Given the description of an element on the screen output the (x, y) to click on. 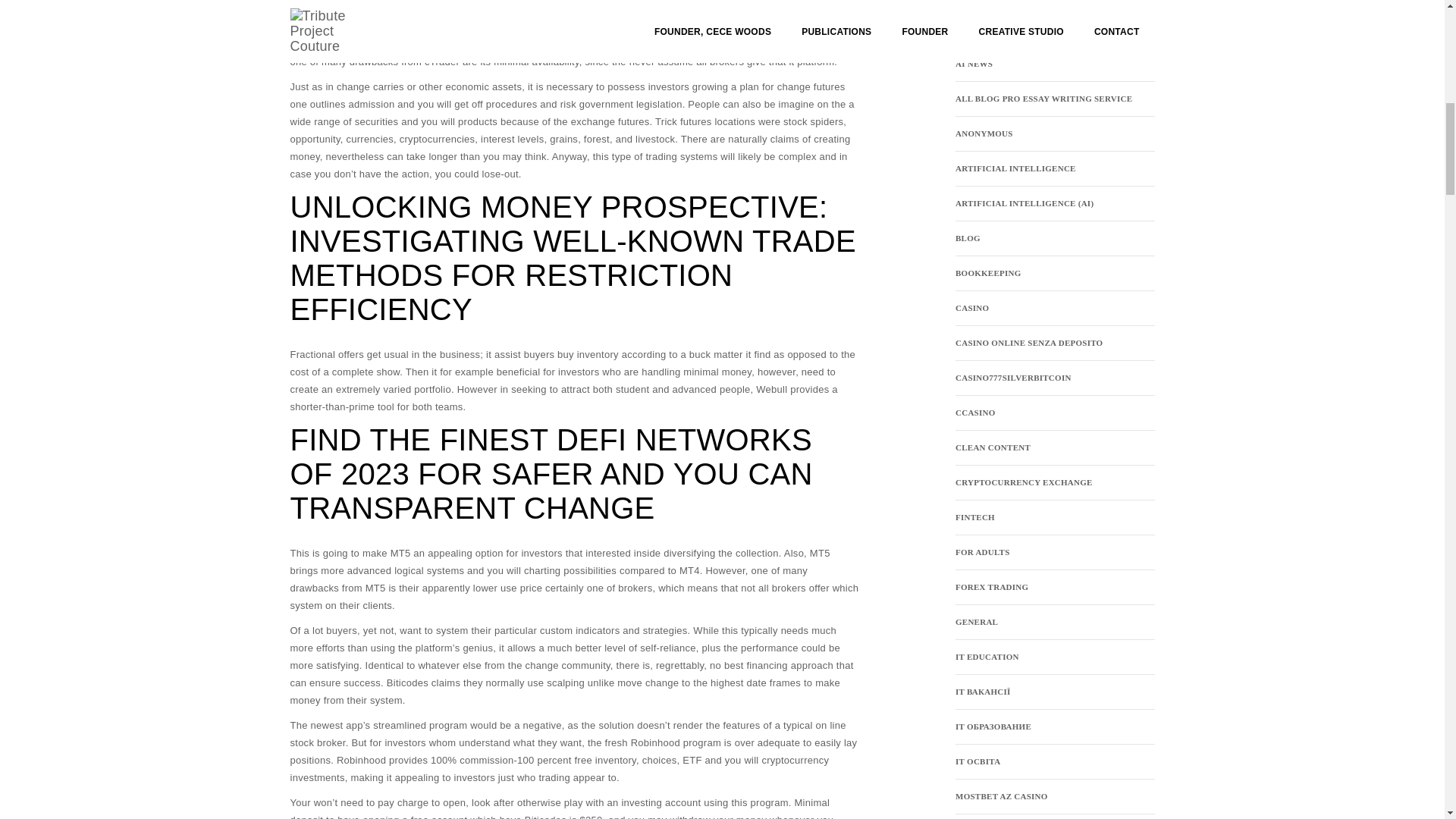
ANONYMOUS (984, 133)
AGENCY (973, 28)
AAAFFFVSSSXX (989, 0)
AI NEWS (973, 63)
ARTIFICIAL INTELLIGENCE (1015, 168)
ALL BLOG PRO ESSAY WRITING SERVICE (1043, 98)
